Given the description of an element on the screen output the (x, y) to click on. 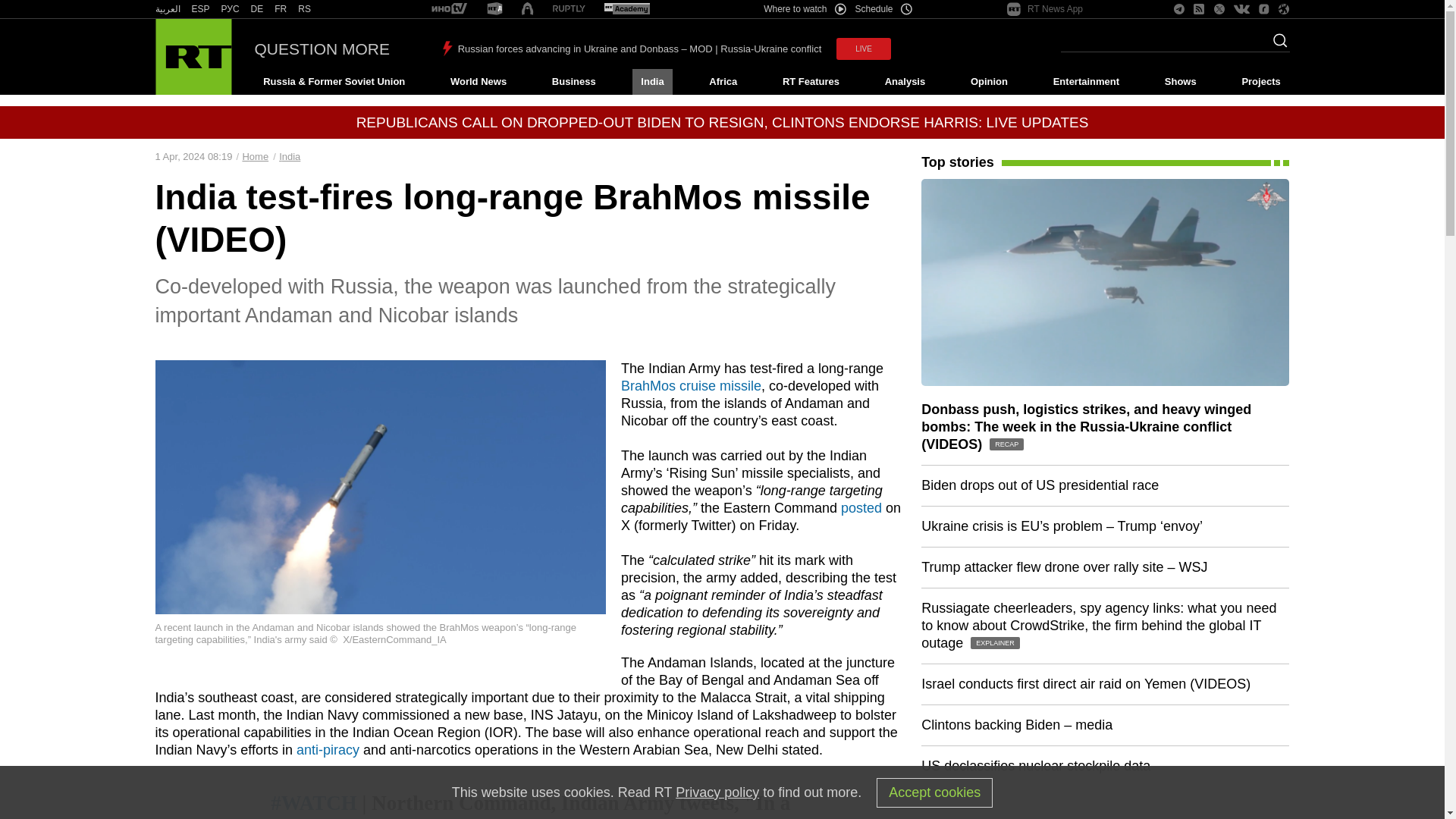
RS (304, 9)
Shows (1180, 81)
LIVE (863, 48)
RT  (199, 9)
World News (478, 81)
Business (573, 81)
RT  (166, 9)
RT  (494, 9)
Schedule (884, 9)
RT  (448, 9)
Where to watch (803, 9)
QUESTION MORE (322, 48)
RT  (280, 9)
DE (256, 9)
RT News App (1045, 9)
